Given the description of an element on the screen output the (x, y) to click on. 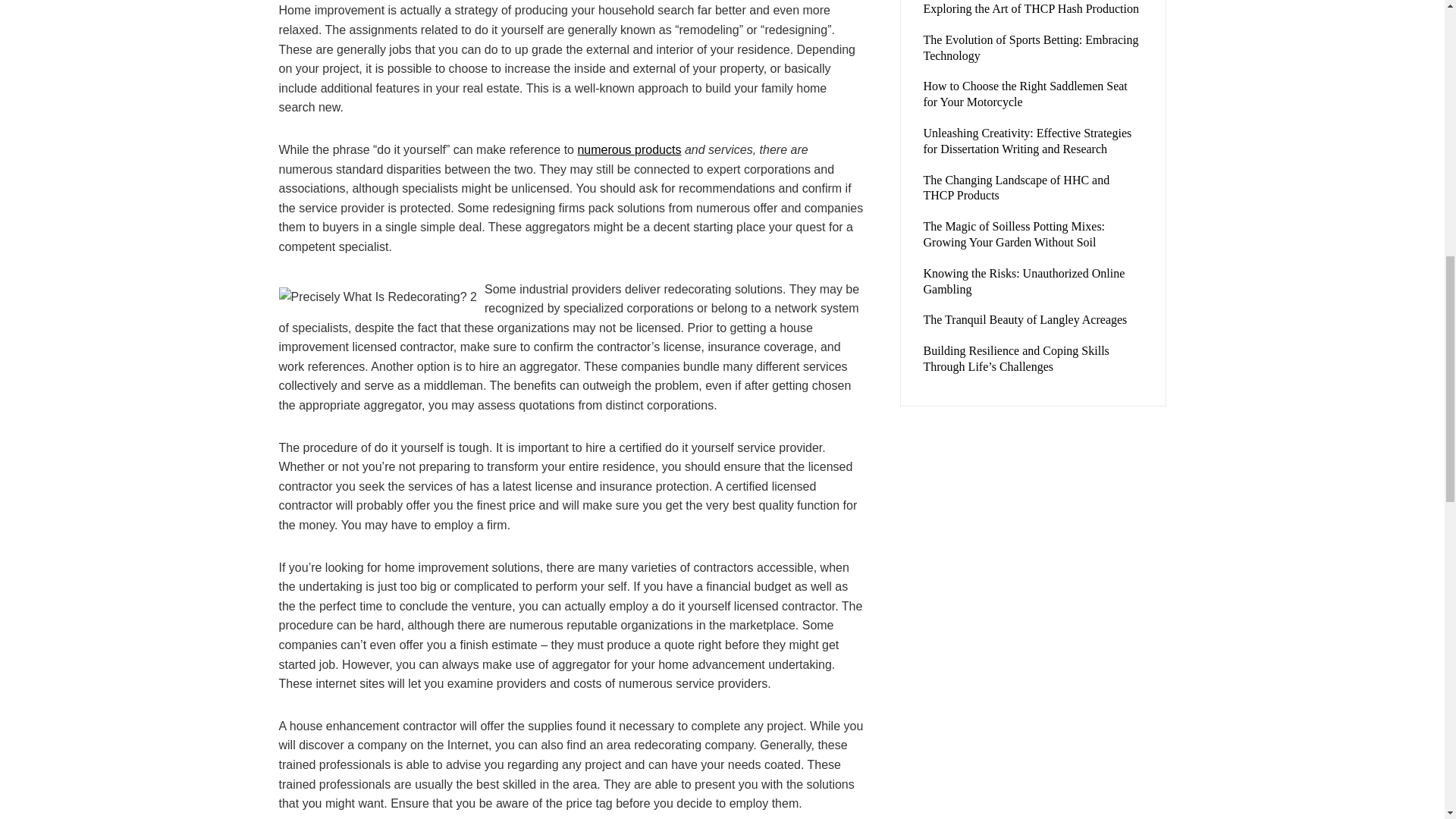
How to Choose the Right Saddlemen Seat for Your Motorcycle (1024, 93)
Exploring the Art of THCP Hash Production (1030, 8)
The Evolution of Sports Betting: Embracing Technology (1030, 47)
The Changing Landscape of HHC and THCP Products (1016, 187)
numerous products (628, 149)
